Given the description of an element on the screen output the (x, y) to click on. 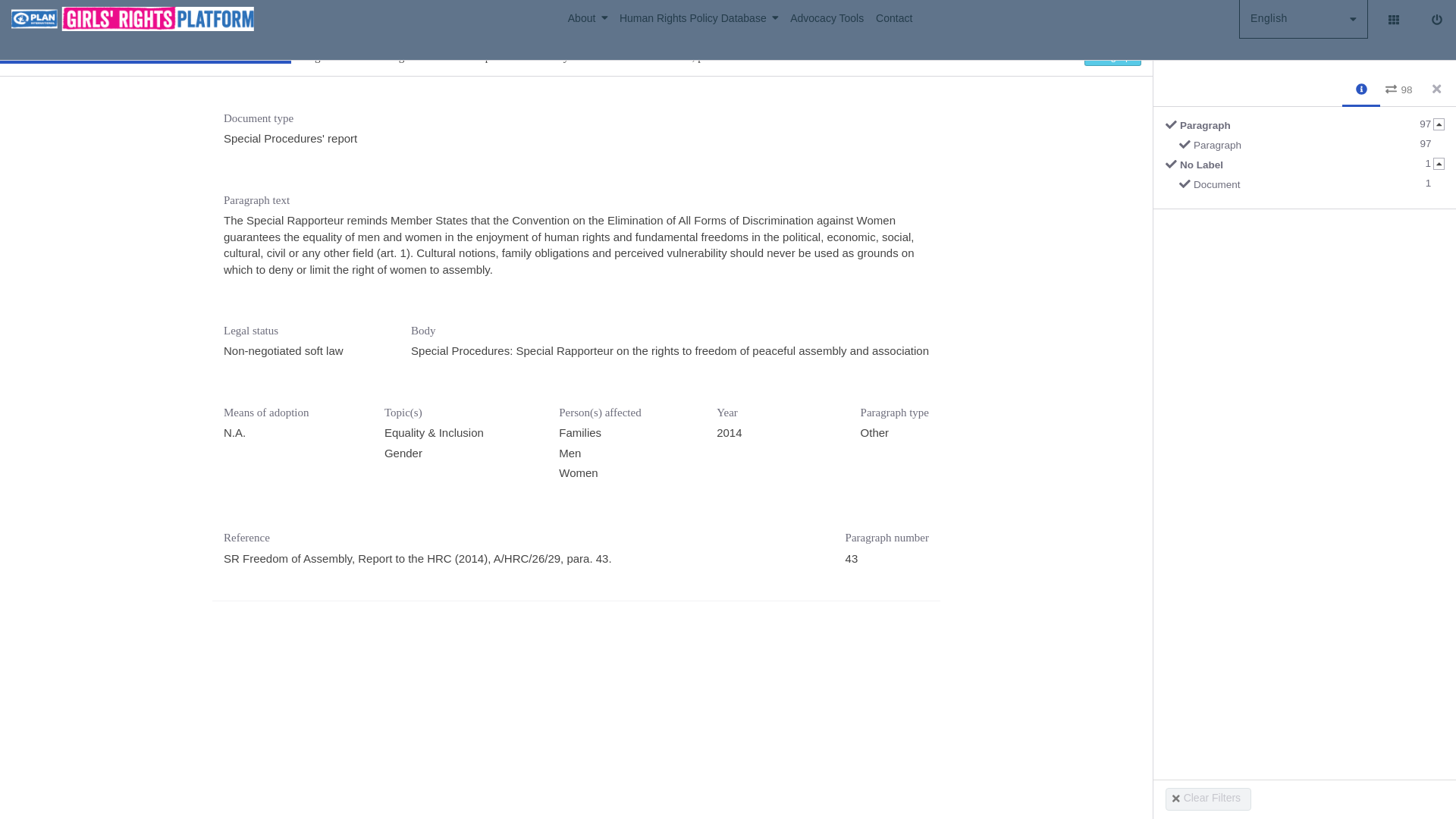
Paragraph (1303, 18)
Advocacy Tools (1310, 148)
Contact (832, 18)
About  (893, 18)
Human Rights Policy Database  (593, 18)
Document (705, 18)
